Given the description of an element on the screen output the (x, y) to click on. 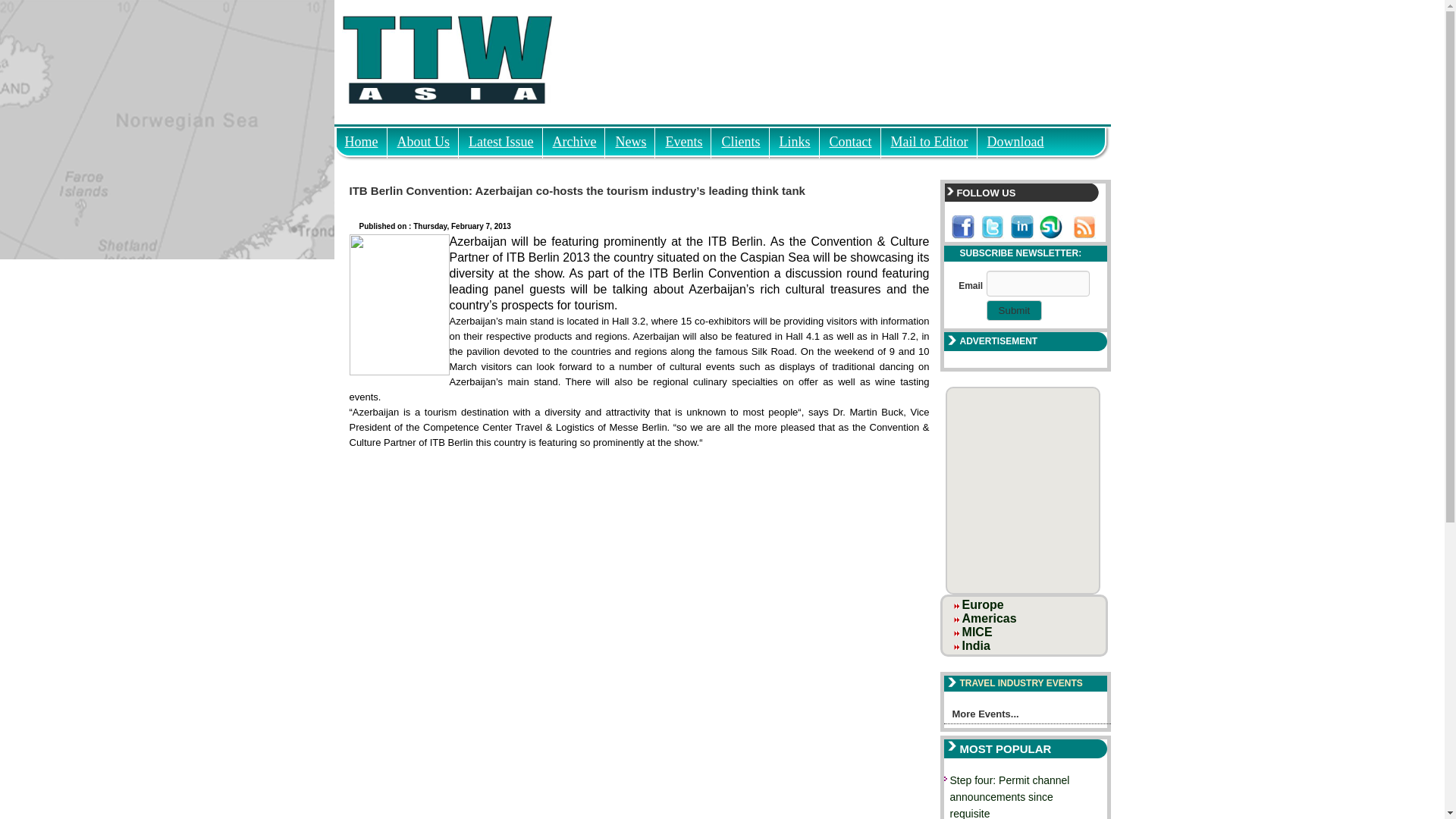
Americas (989, 617)
Home (361, 137)
Europe (983, 604)
Clients (740, 137)
MICE (977, 631)
Contact (850, 137)
Step four: Permit channel announcements since requisite (1008, 796)
About Us (423, 137)
Download (1015, 137)
Submit (1014, 310)
